Given the description of an element on the screen output the (x, y) to click on. 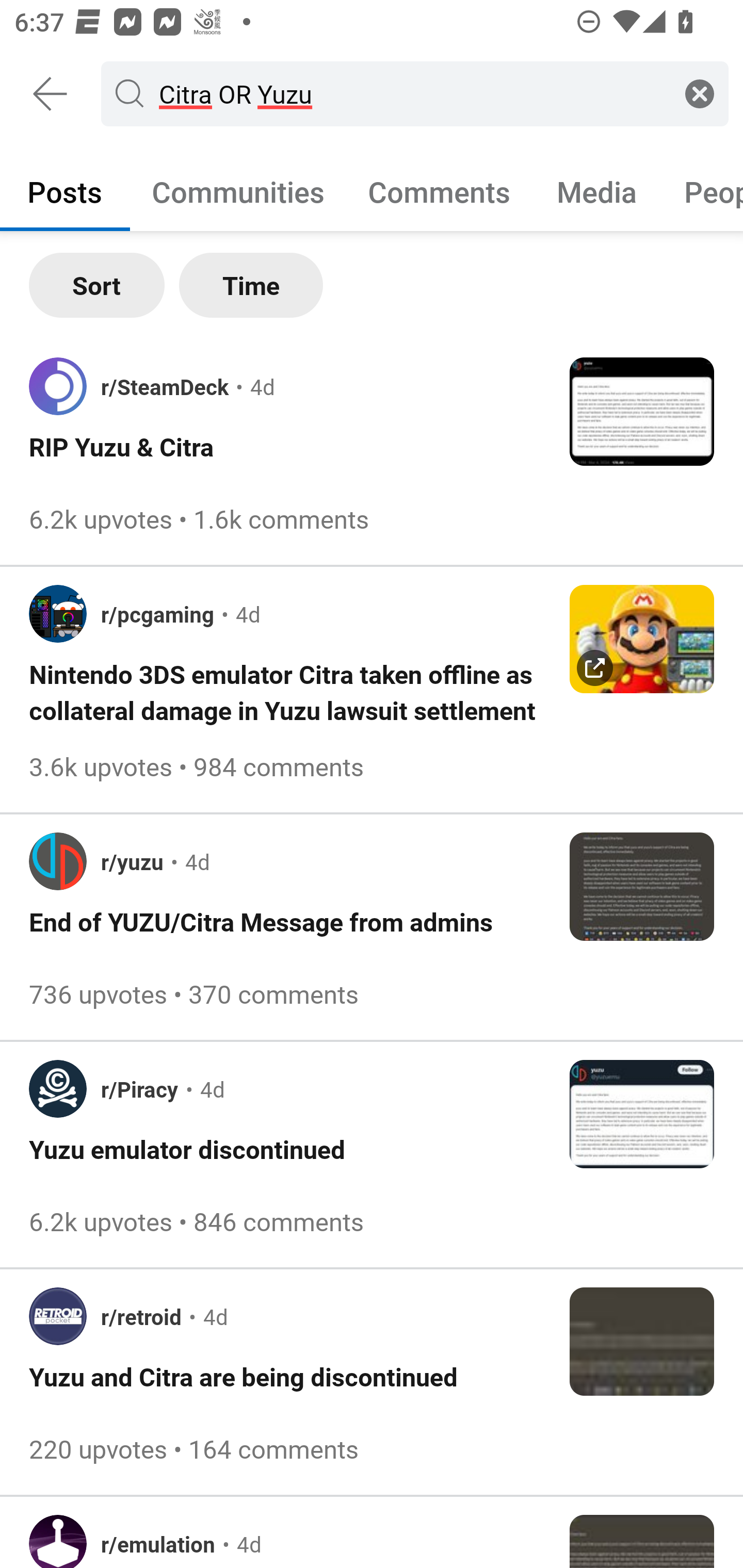
Back (50, 93)
Citra OR Yuzu (410, 93)
Clear search (699, 93)
Communities (238, 191)
Comments (438, 191)
Media (596, 191)
Sort Sort by Most relevant (96, 285)
Time Filter Time by All time (251, 285)
